Given the description of an element on the screen output the (x, y) to click on. 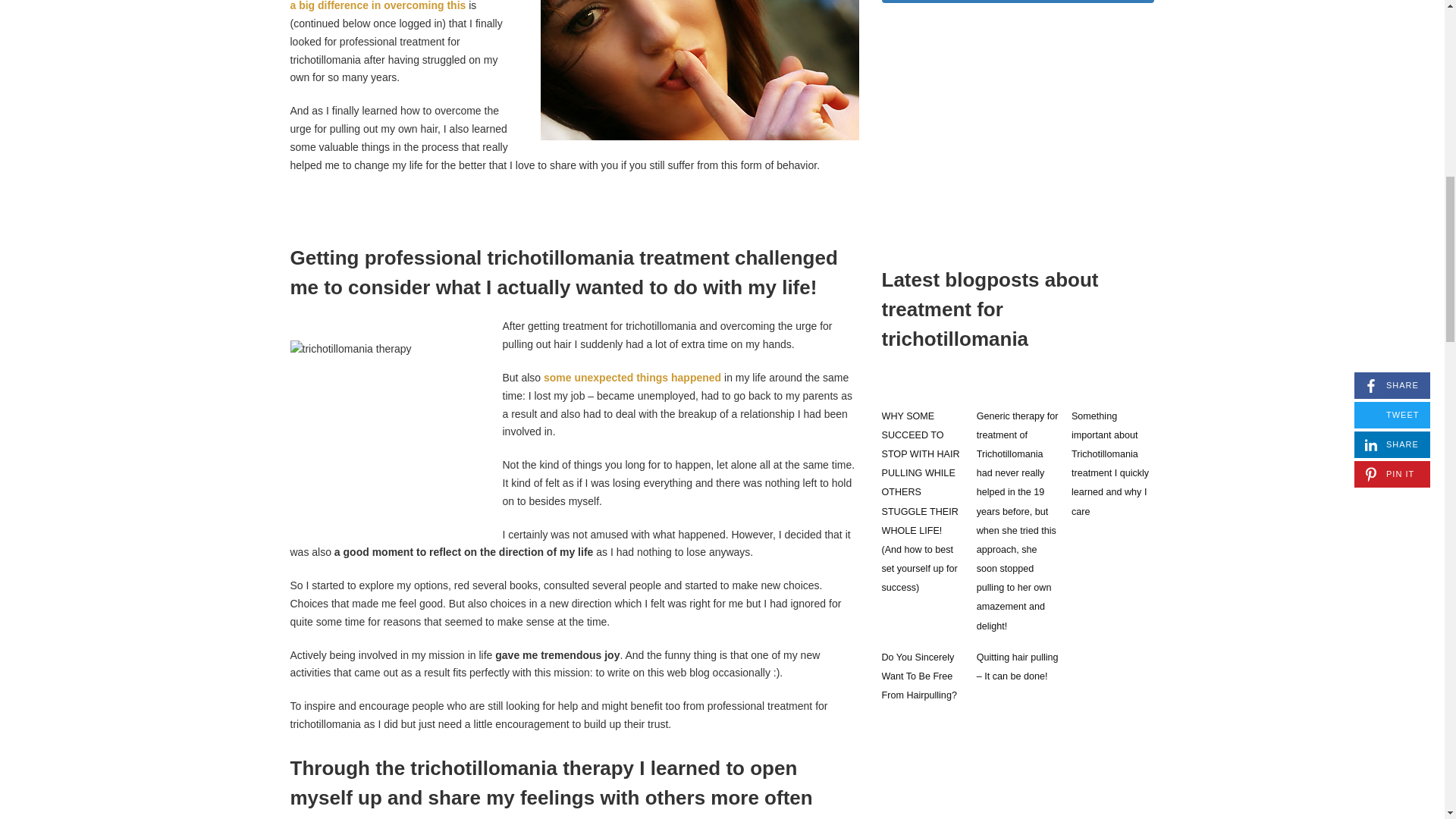
Log Me In (1017, 1)
